Given the description of an element on the screen output the (x, y) to click on. 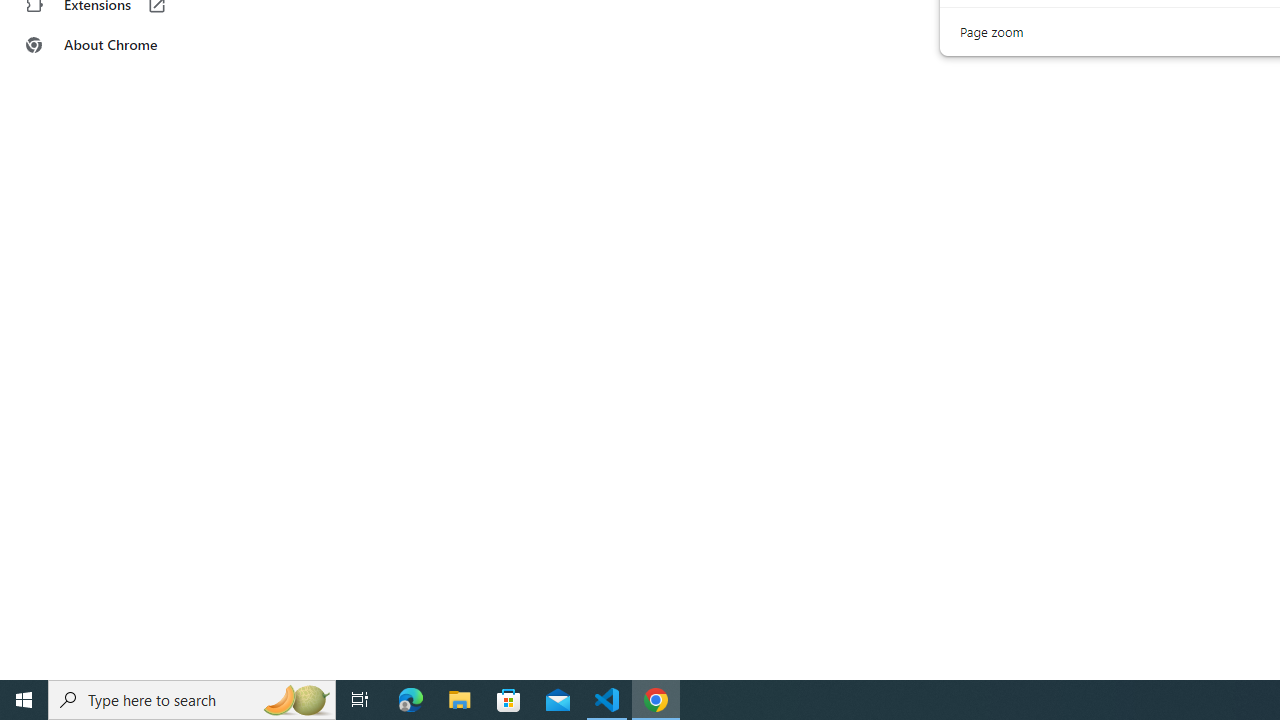
About Chrome (124, 44)
